Given the description of an element on the screen output the (x, y) to click on. 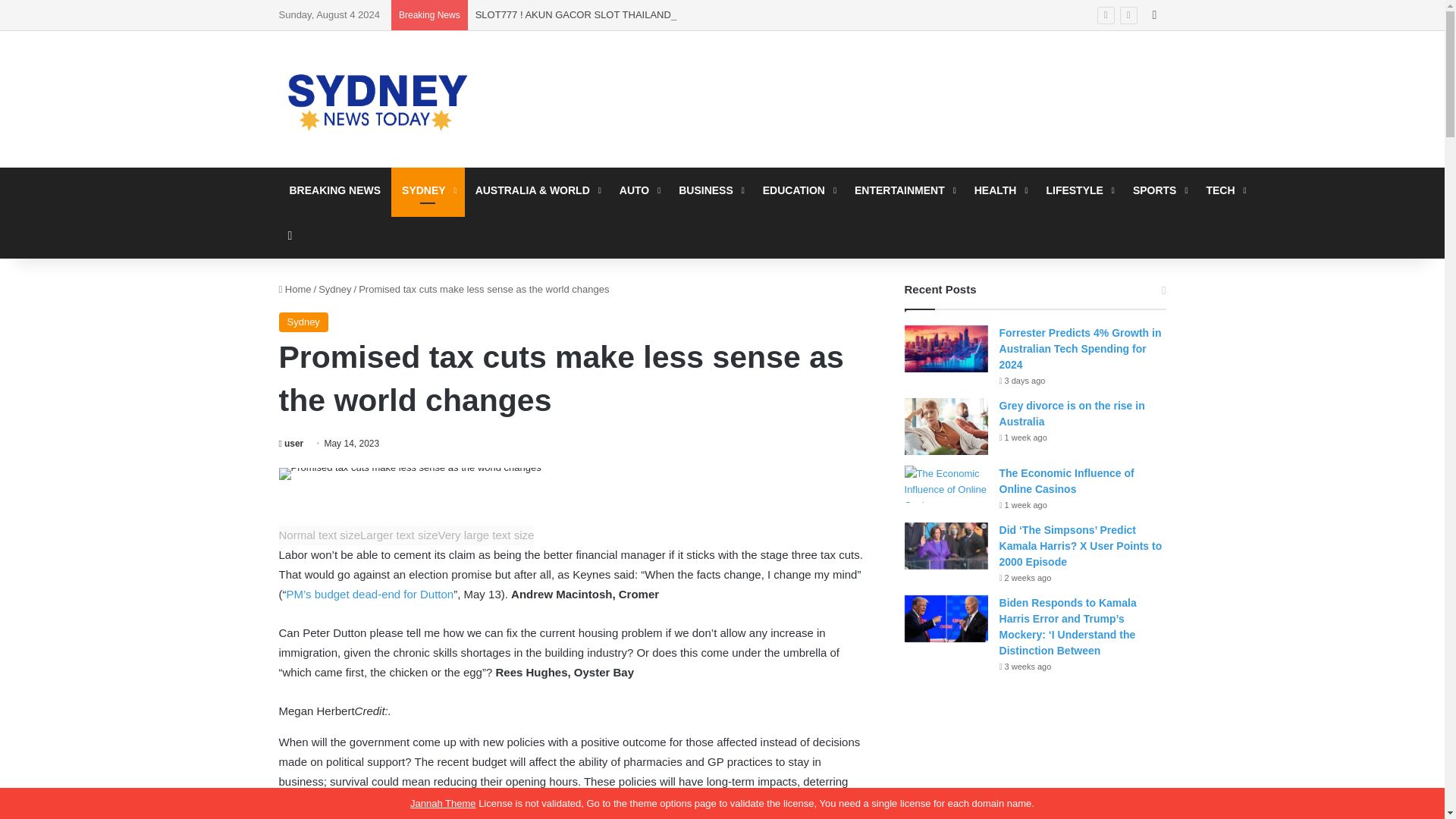
SYDNEY (427, 189)
TECH (1224, 189)
HEALTH (999, 189)
SPORTS (1158, 189)
BUSINESS (710, 189)
user (291, 443)
Sydneynewstoday.com (377, 99)
Normal text size (320, 535)
BREAKING NEWS (335, 189)
LIFESTYLE (1078, 189)
Larger text size (398, 535)
Sydney (334, 288)
EDUCATION (798, 189)
Sydney (304, 322)
AUTO (638, 189)
